Given the description of an element on the screen output the (x, y) to click on. 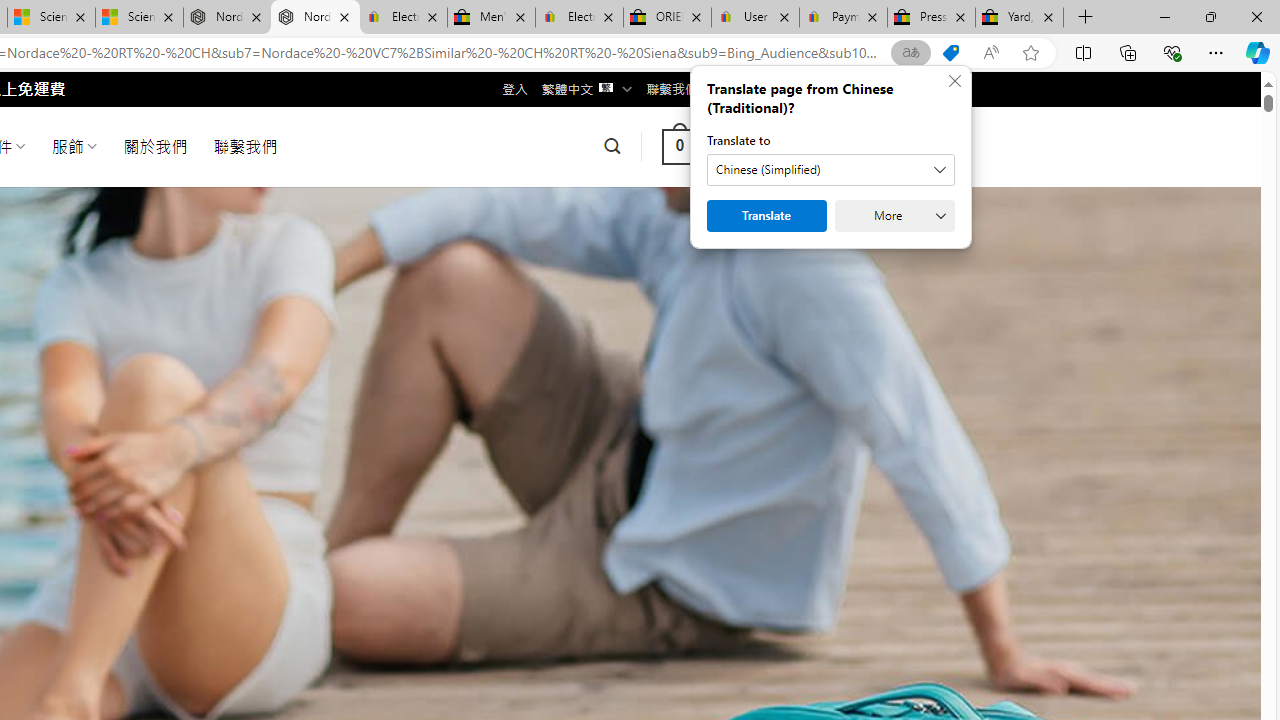
Translate (766, 215)
 0  (679, 146)
